Given the description of an element on the screen output the (x, y) to click on. 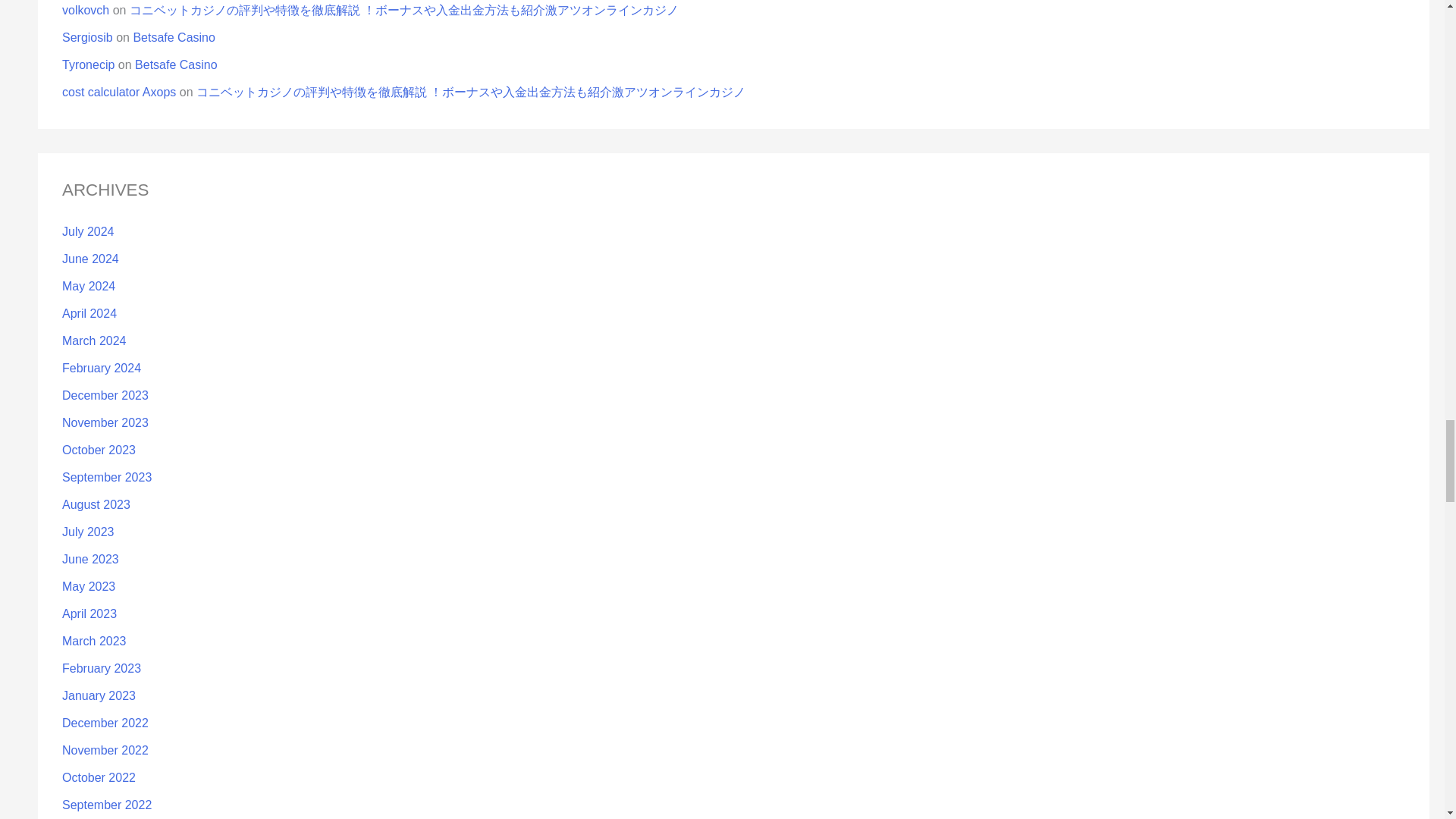
volkovch (85, 10)
June 2024 (90, 258)
Betsafe Casino (173, 37)
Tyronecip (88, 64)
cost calculator Axops (119, 91)
July 2024 (88, 231)
Sergiosib (87, 37)
Betsafe Casino (175, 64)
